Given the description of an element on the screen output the (x, y) to click on. 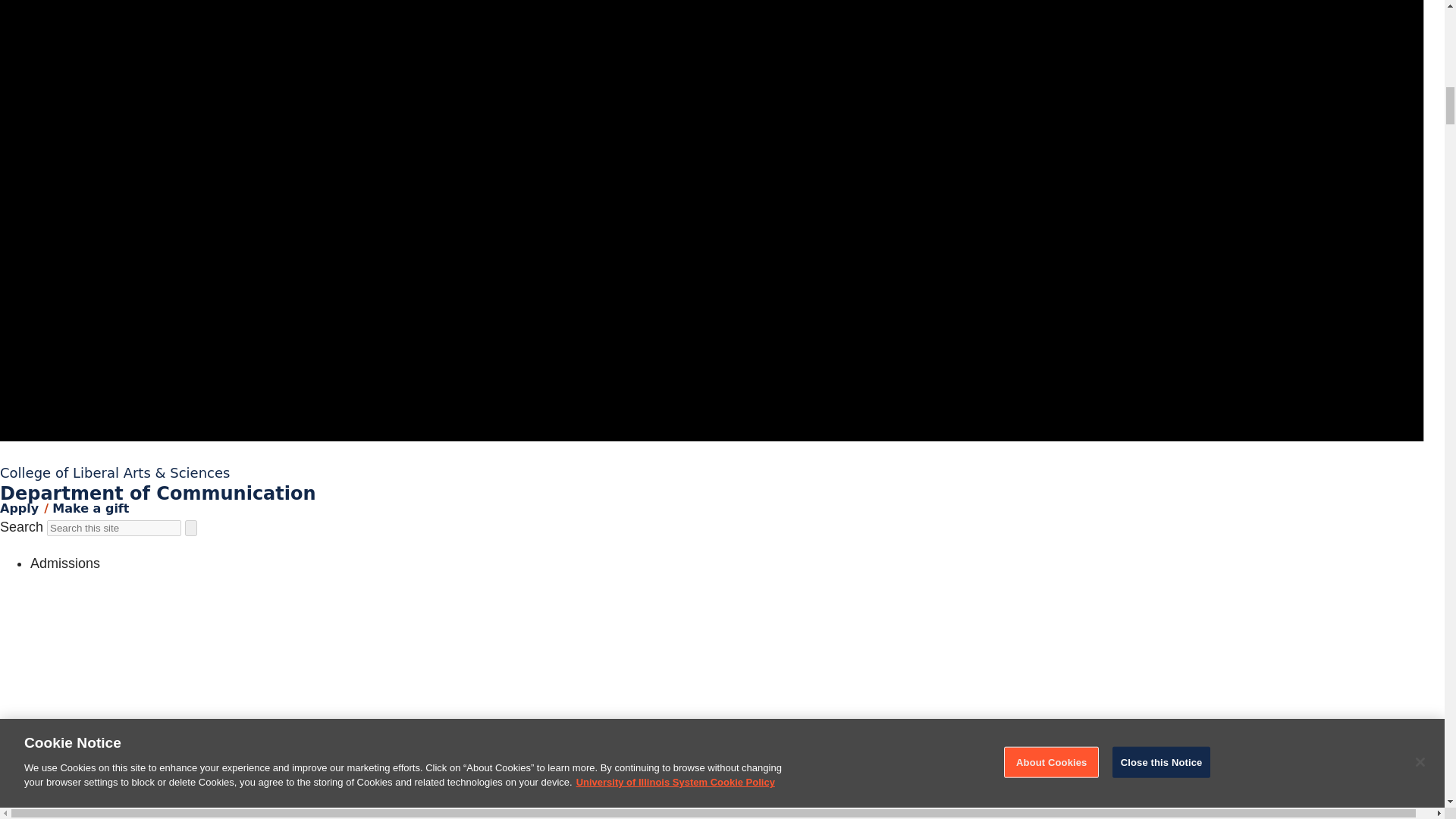
Admissions (65, 563)
Make a gift (90, 508)
Department of Communication (157, 493)
Apply (19, 508)
